Given the description of an element on the screen output the (x, y) to click on. 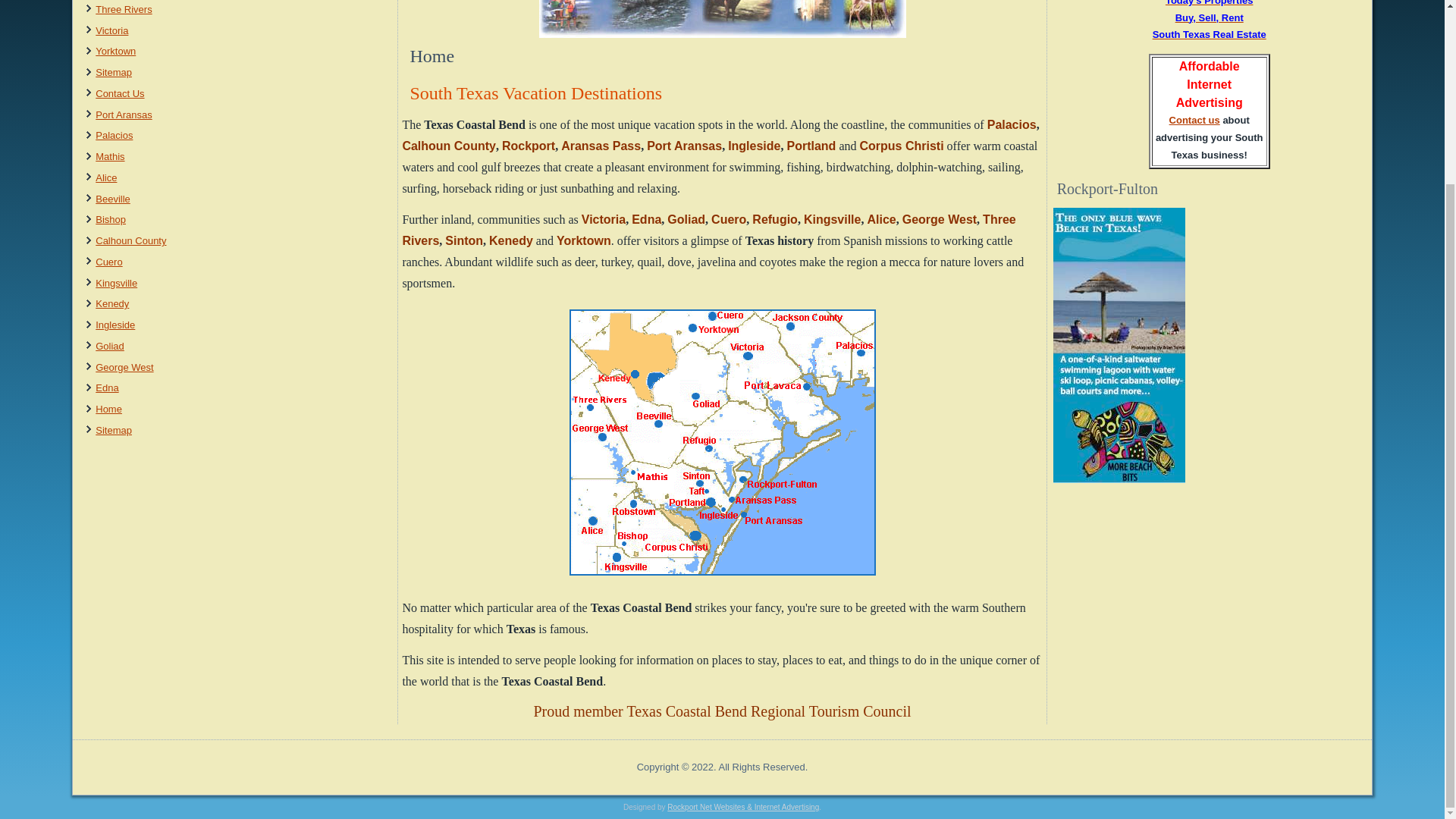
Goliad (109, 346)
George West (124, 366)
Sitemap (114, 71)
Kingsville (116, 283)
Rockport-Fulton Blue Wave Beach (1118, 478)
Aransas Pass (600, 145)
Ingleside (115, 324)
Three Rivers (123, 9)
Cuero (109, 261)
Calhoun County (130, 240)
